Given the description of an element on the screen output the (x, y) to click on. 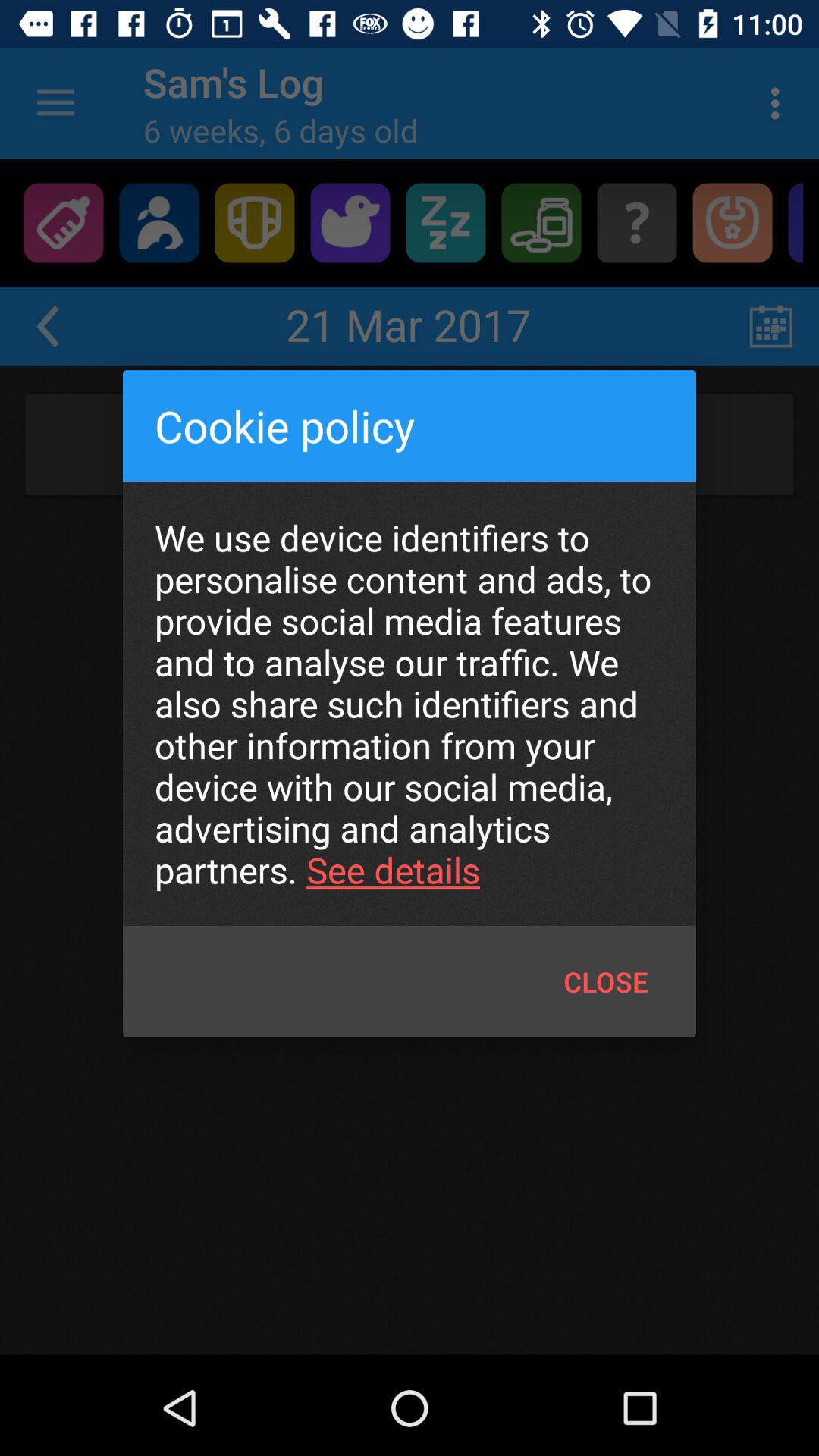
choose icon below we use device (605, 981)
